Given the description of an element on the screen output the (x, y) to click on. 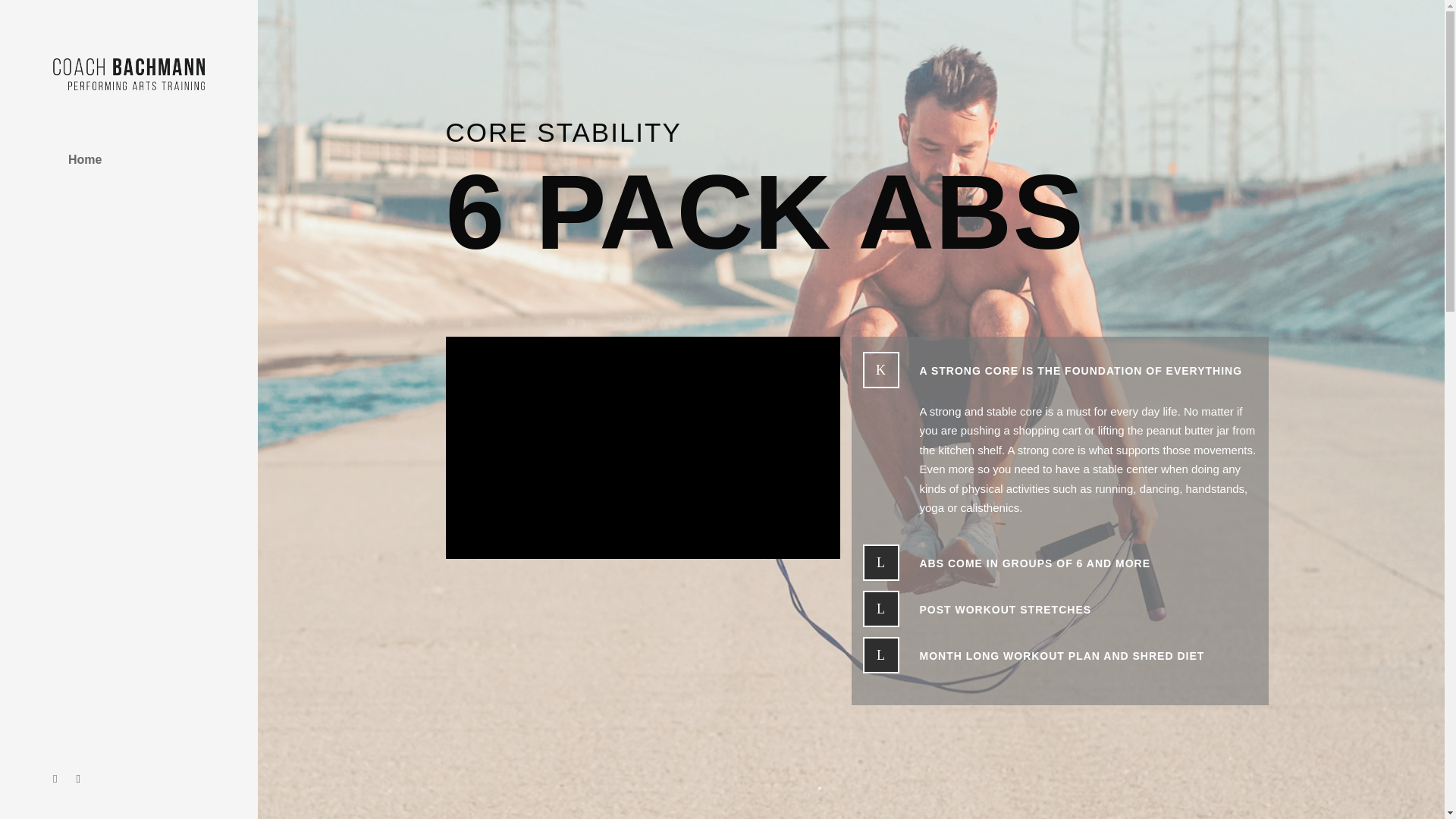
logo-mobile-light (128, 74)
Home (128, 159)
Home (128, 159)
